Given the description of an element on the screen output the (x, y) to click on. 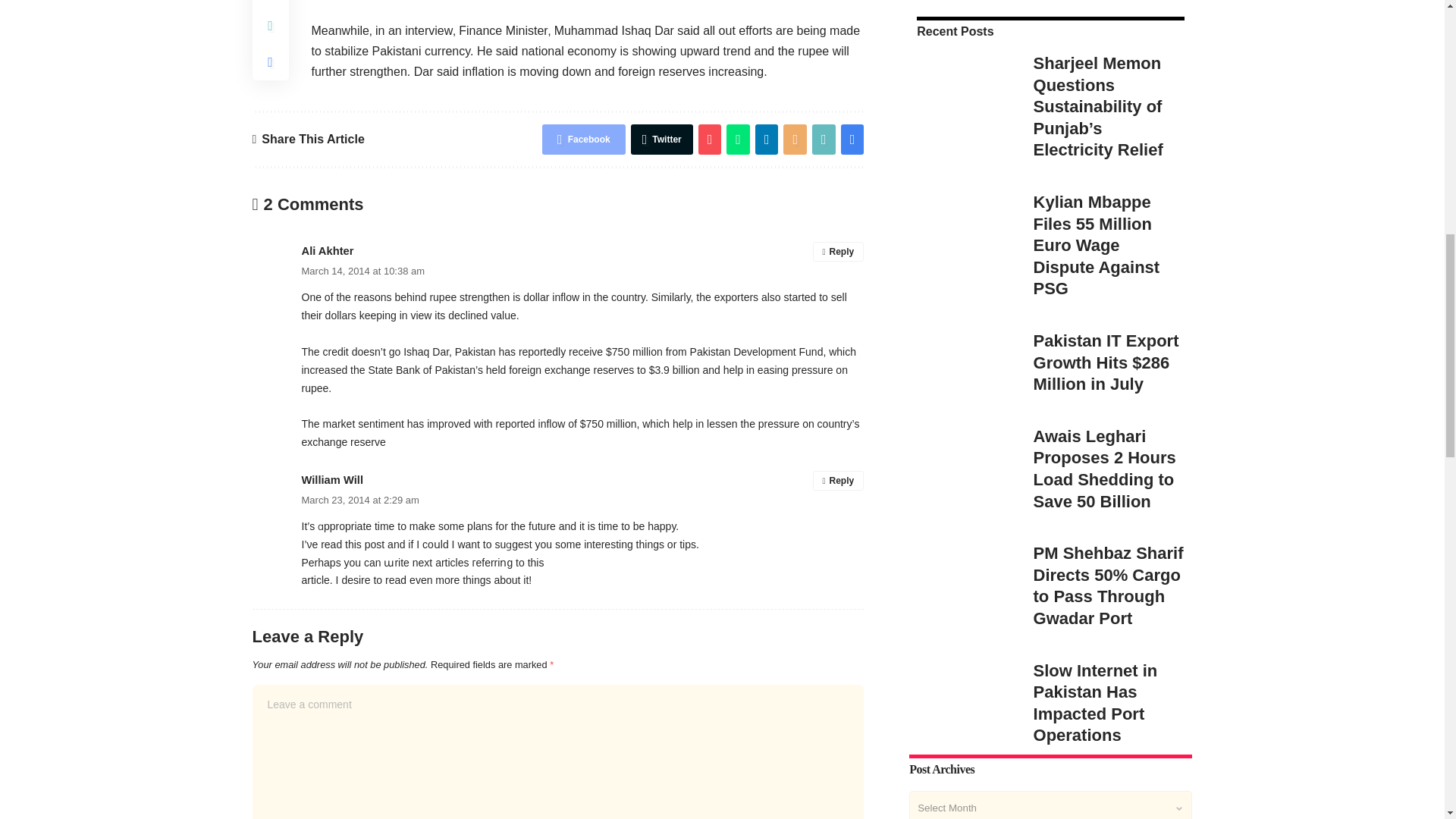
Kylian Mbappe Files 55 Million Euro Wage Dispute Against PSG (963, 3)
Slow Internet in Pakistan Has Impacted  Port Operations (963, 435)
